Given the description of an element on the screen output the (x, y) to click on. 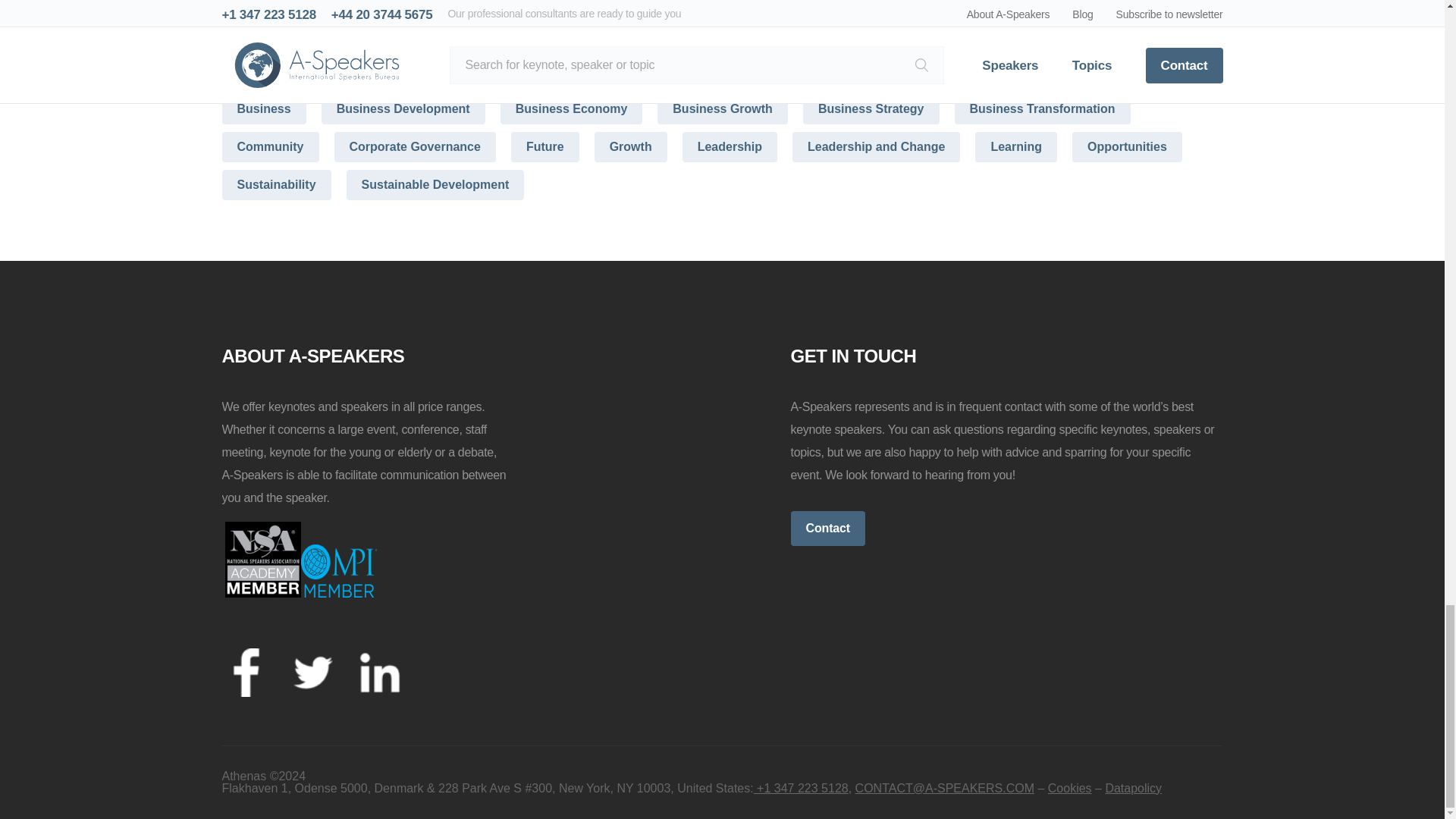
Business (263, 109)
